Given the description of an element on the screen output the (x, y) to click on. 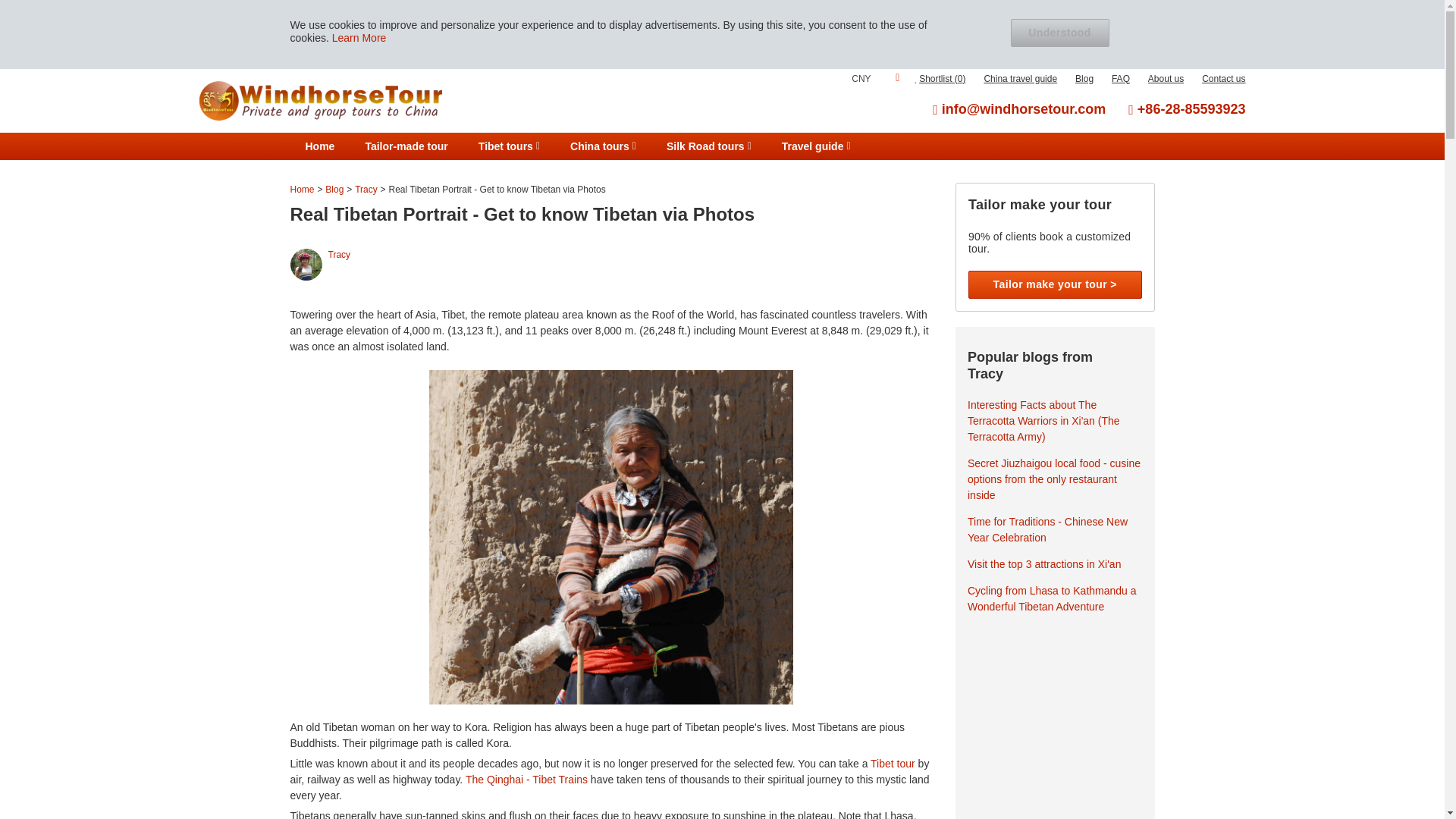
About us (1165, 78)
Tibet tours (508, 146)
Learn More (359, 38)
FAQ (1120, 78)
Tailor-made tour (406, 146)
Contact us (1223, 78)
Blog (1084, 78)
Understood (1059, 32)
Tracy Luo (305, 264)
China travel guide (1020, 78)
CNY (874, 78)
Home (319, 146)
China tours (602, 146)
